Given the description of an element on the screen output the (x, y) to click on. 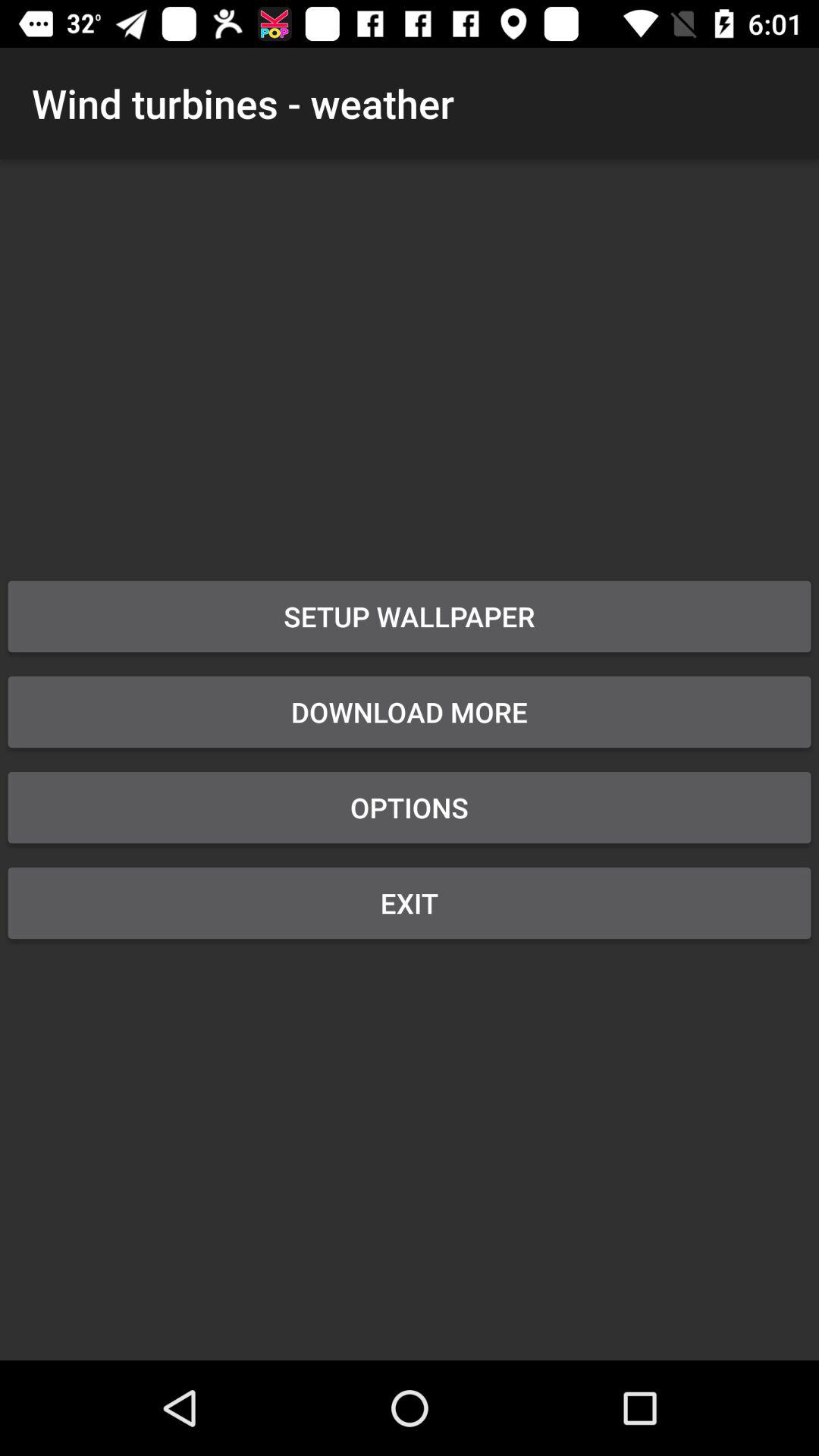
choose button above exit icon (409, 807)
